Given the description of an element on the screen output the (x, y) to click on. 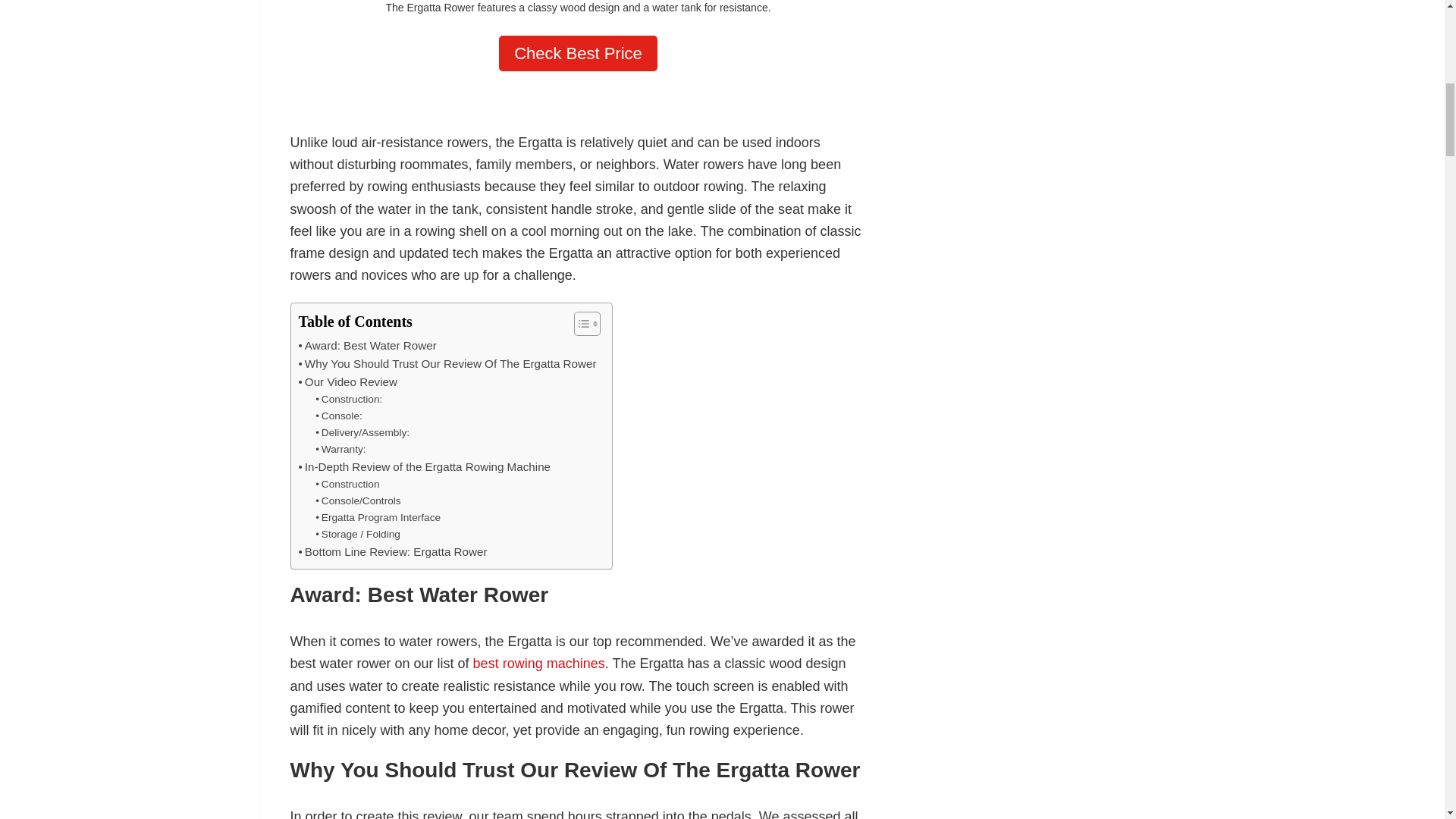
Construction (346, 484)
Award: Best Water Rower (367, 345)
Our Video Review (347, 382)
In-Depth Review of the Ergatta Rowing Machine (424, 466)
Why You Should Trust Our Review Of The Ergatta Rower (447, 363)
Console: (338, 416)
Warranty: (340, 449)
Construction: (348, 399)
